Given the description of an element on the screen output the (x, y) to click on. 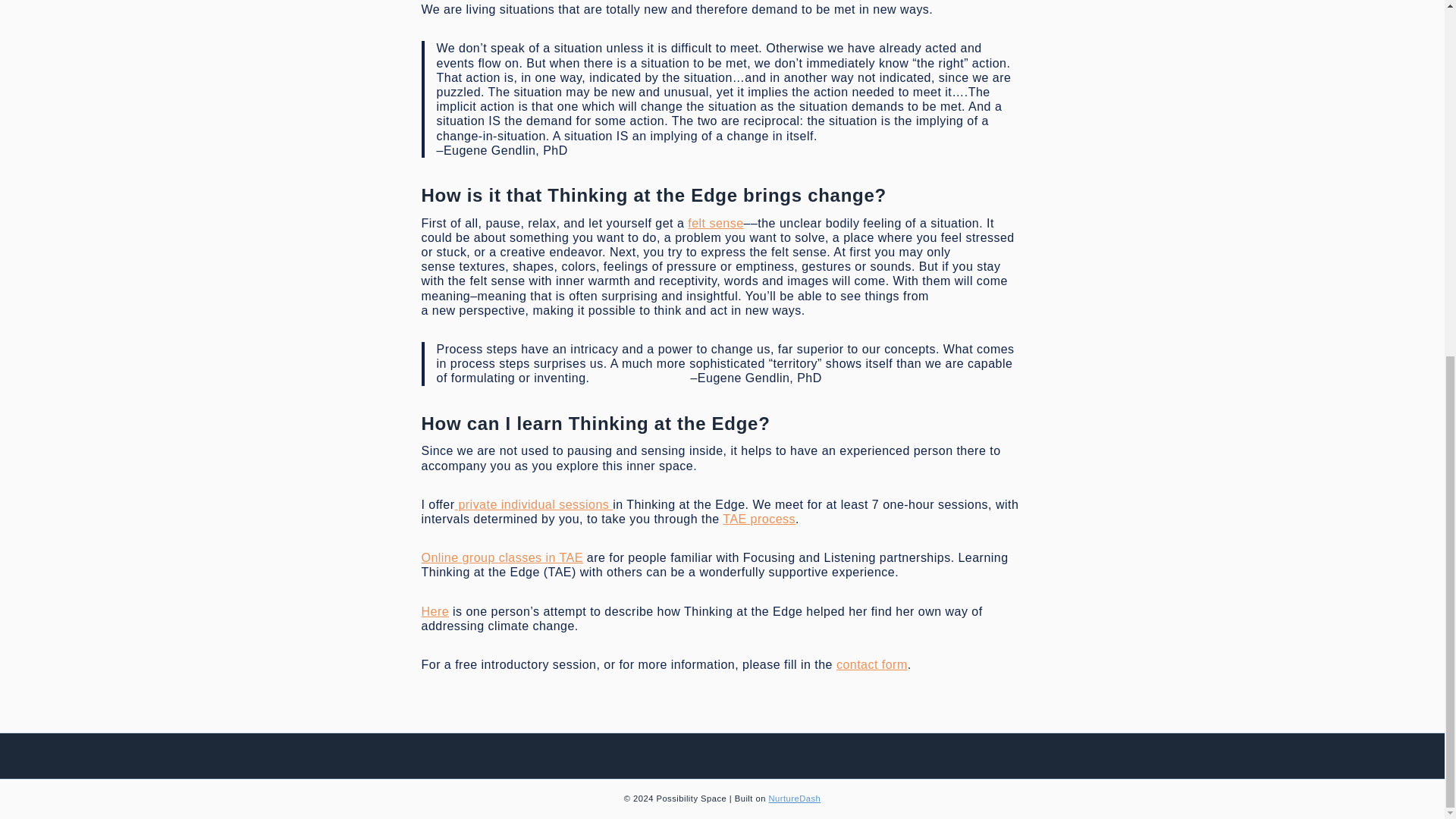
TAE process (758, 518)
felt sense (714, 223)
NurtureDash (794, 798)
Here (435, 611)
private individual sessions (533, 504)
contact form (871, 664)
Online group classes in TAE (502, 557)
